Given the description of an element on the screen output the (x, y) to click on. 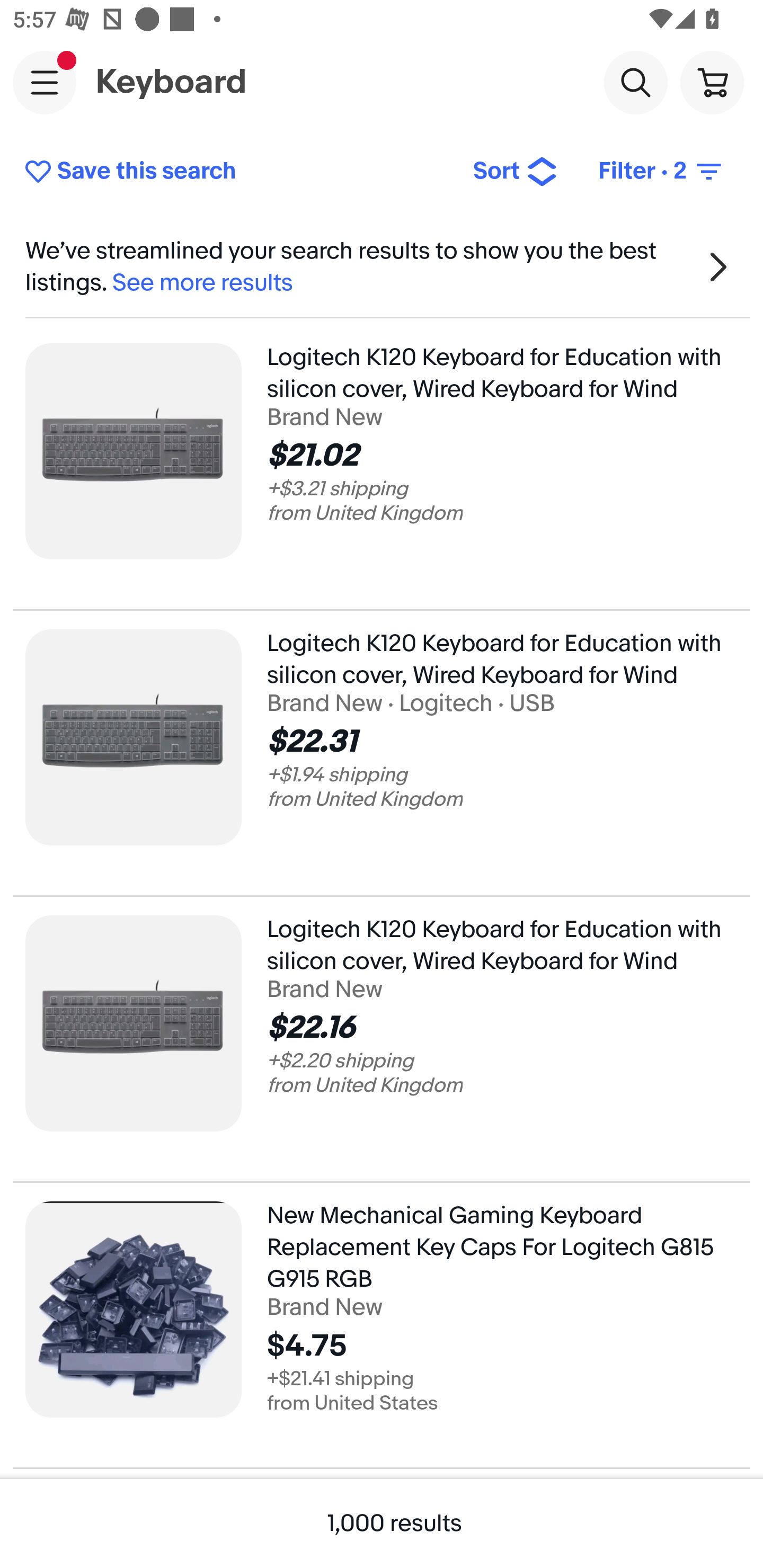
Main navigation, open (44, 82)
Search (635, 81)
Cart button shopping cart (711, 81)
Save this search (235, 171)
Sort (515, 171)
Filter • 2 Filter (2 applied) (661, 171)
